Given the description of an element on the screen output the (x, y) to click on. 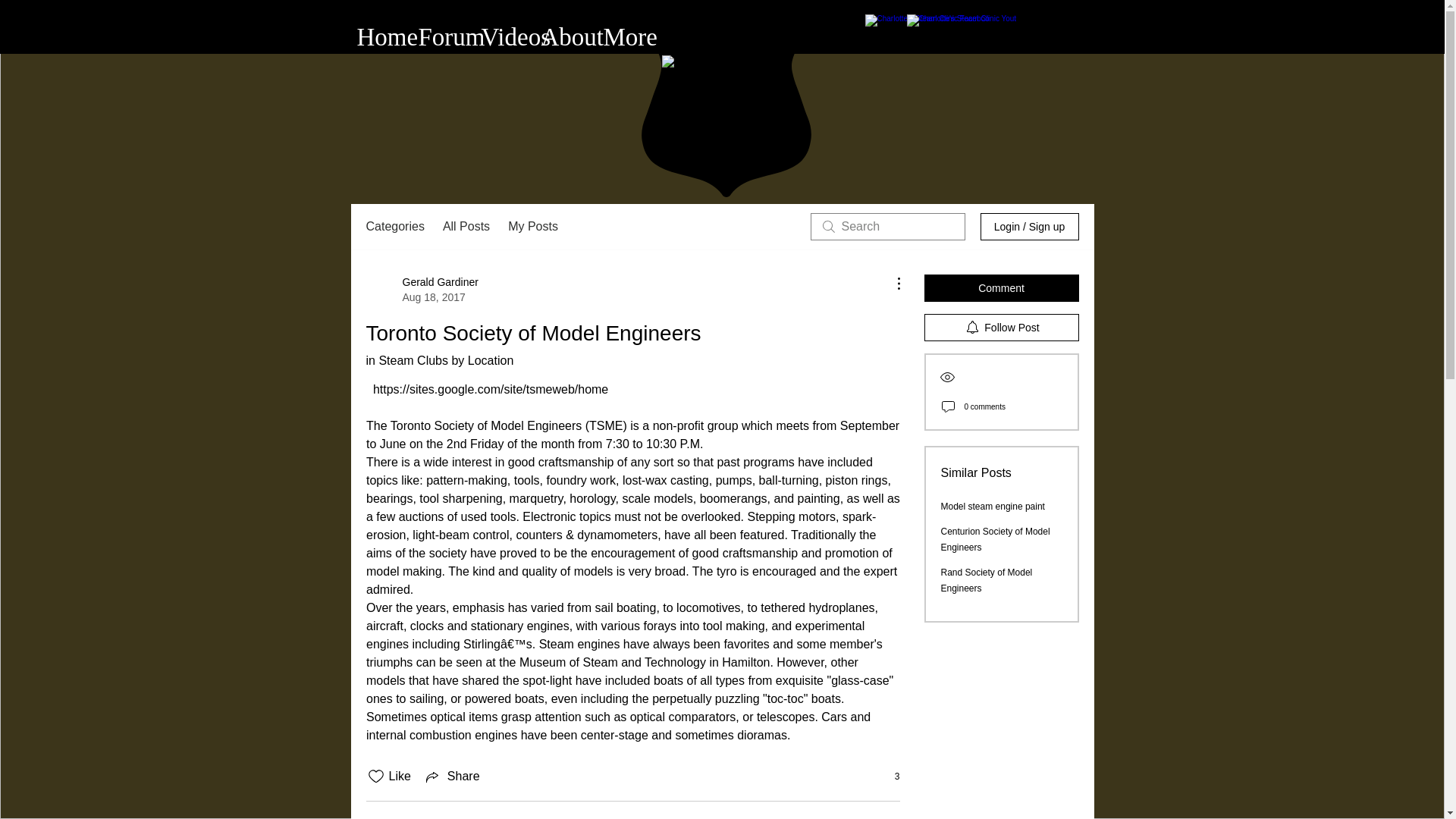
3 (888, 776)
Rand Society of Model Engineers (986, 580)
in Steam Clubs by Location (439, 359)
Home (376, 37)
Share (451, 776)
Comment (1000, 288)
Categories (394, 226)
Model steam engine paint (991, 506)
About (560, 37)
My Posts (532, 226)
All Posts (465, 226)
Forum (437, 37)
Follow Post (1000, 327)
Videos (499, 37)
Centurion Society of Model Engineers (994, 539)
